Given the description of an element on the screen output the (x, y) to click on. 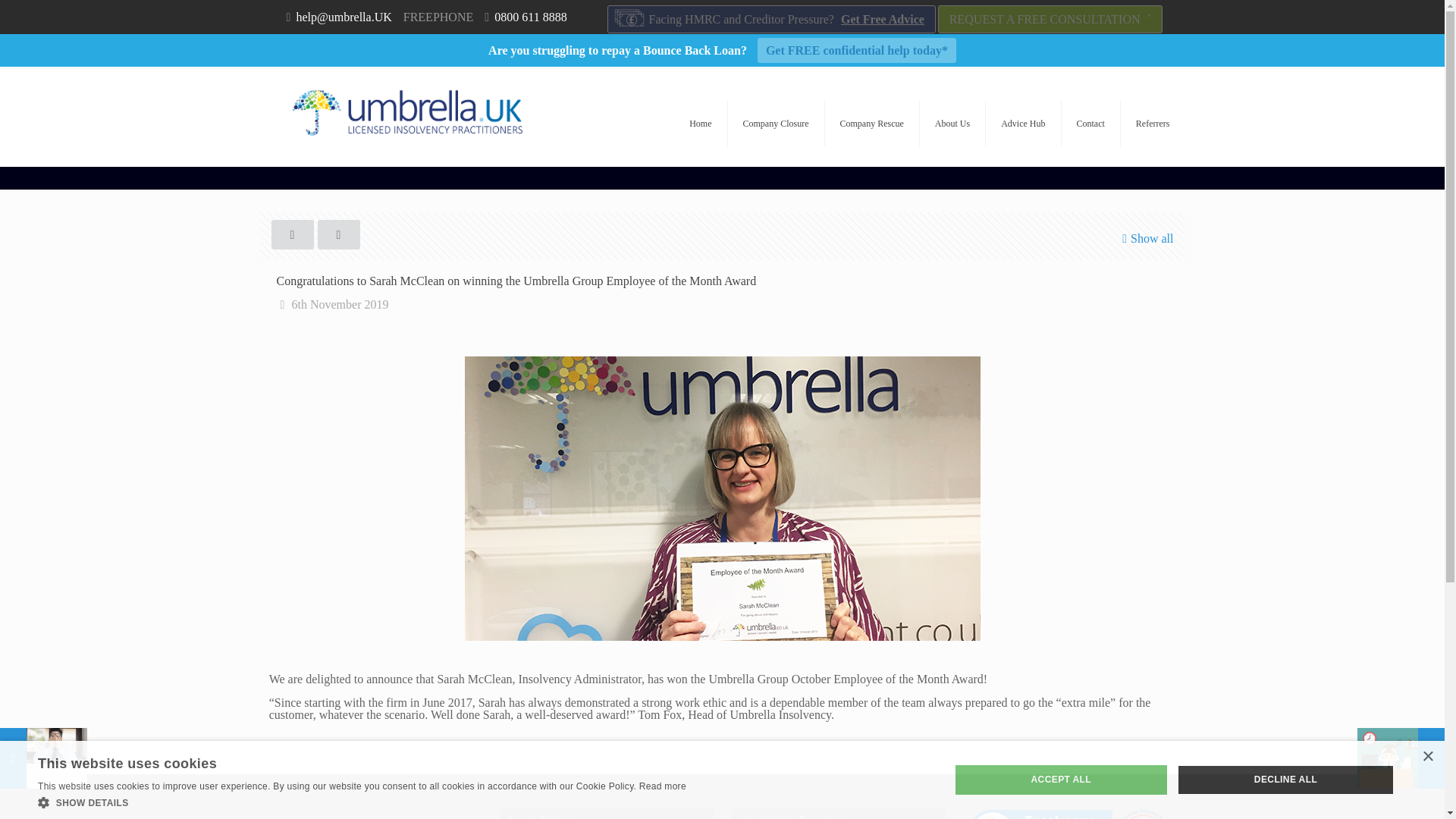
Company Closure (776, 123)
Referrers (1153, 123)
Company Rescue (872, 123)
Legal Notices (606, 813)
0800 611 8888 (530, 16)
Advice Hub (1023, 123)
Facing HMRC and Creditor Pressure? Get Free Advice (771, 18)
Show all (1145, 238)
About Us (952, 123)
